Given the description of an element on the screen output the (x, y) to click on. 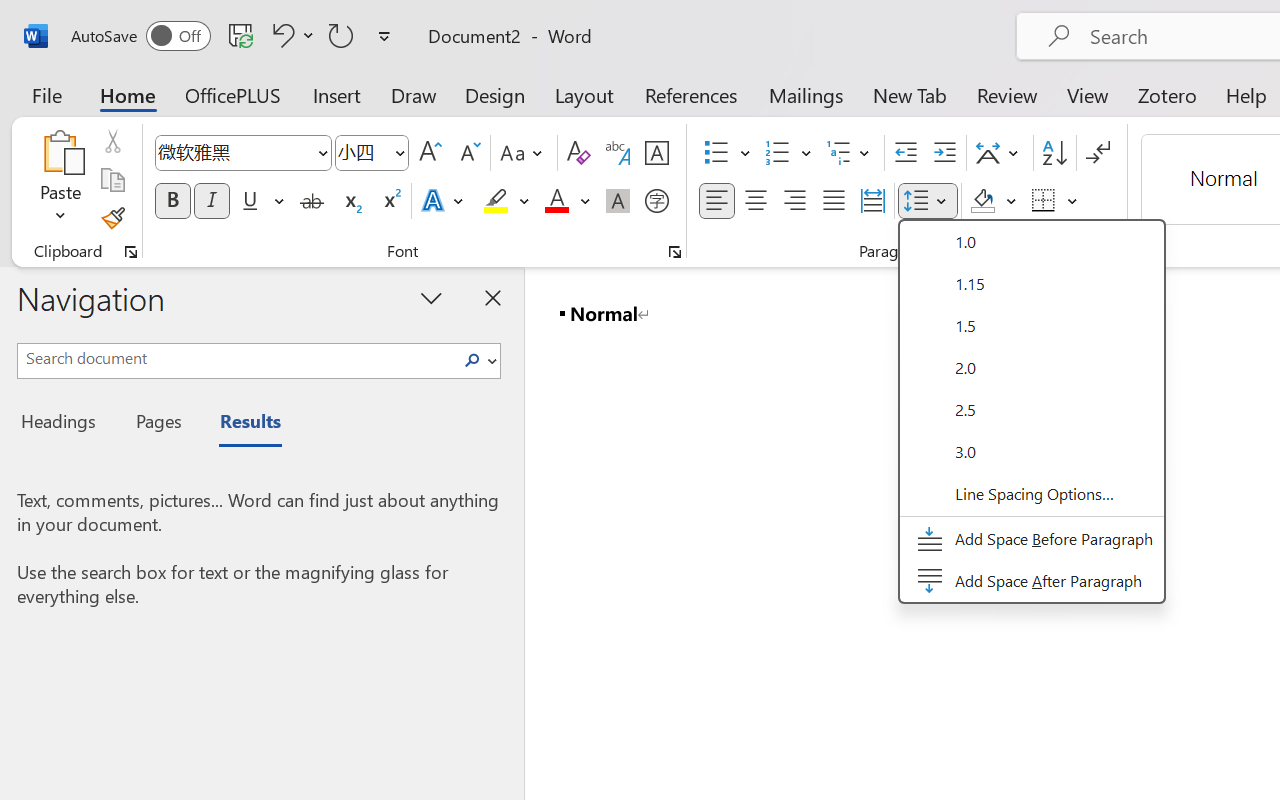
Numbering (778, 153)
Class: NetUIImage (471, 360)
Pages (156, 424)
Undo Style (290, 35)
Office Clipboard... (131, 252)
Font... (675, 252)
Borders (1044, 201)
Align Left (716, 201)
Text Highlight Color (506, 201)
Layout (584, 94)
Text Highlight Color Yellow (495, 201)
Quick Access Toolbar (233, 36)
Text Effects and Typography (444, 201)
Line and Paragraph Spacing (927, 201)
Character Shading (618, 201)
